Given the description of an element on the screen output the (x, y) to click on. 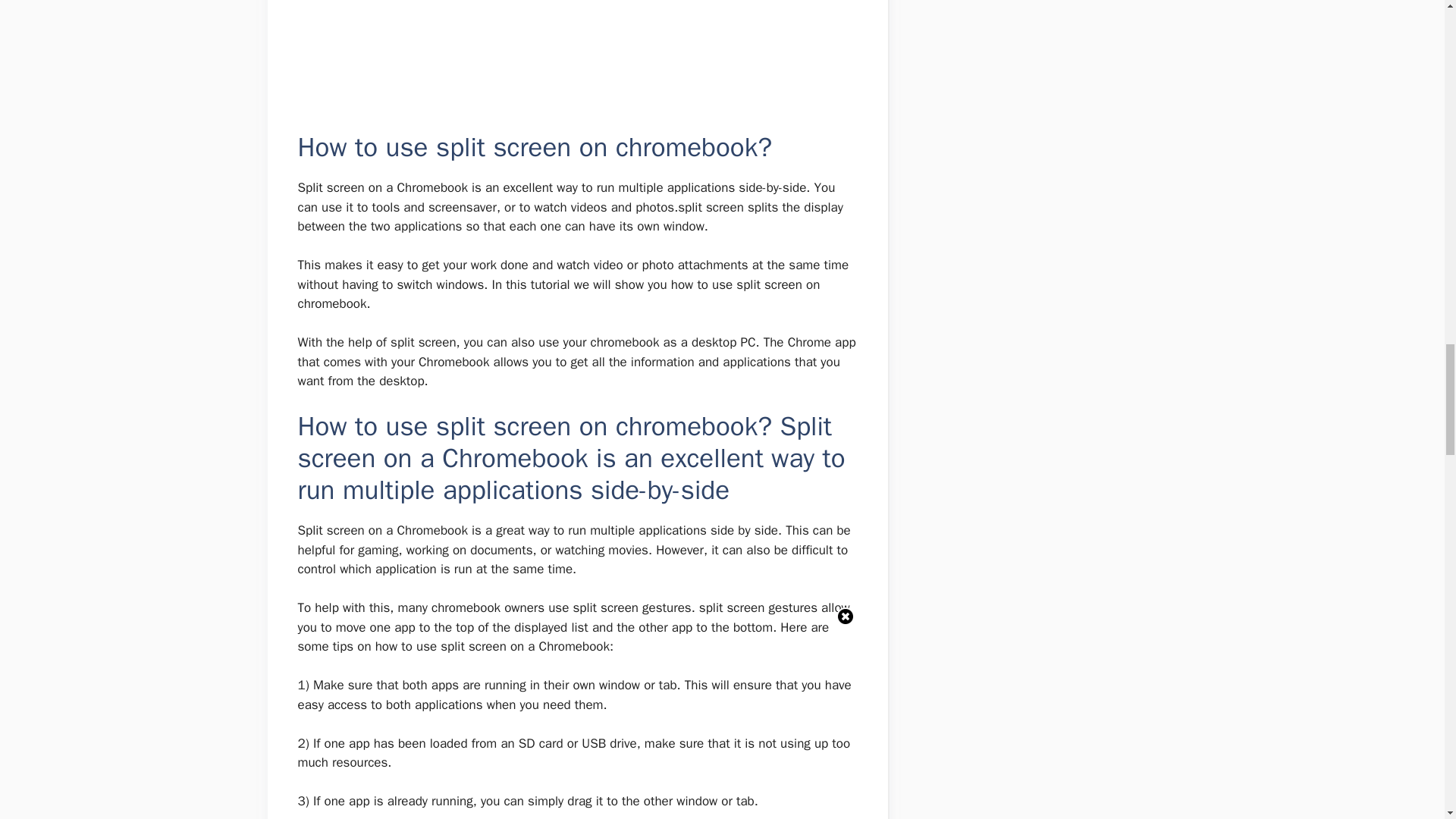
How to Split Screen on Chromebook (577, 53)
